Given the description of an element on the screen output the (x, y) to click on. 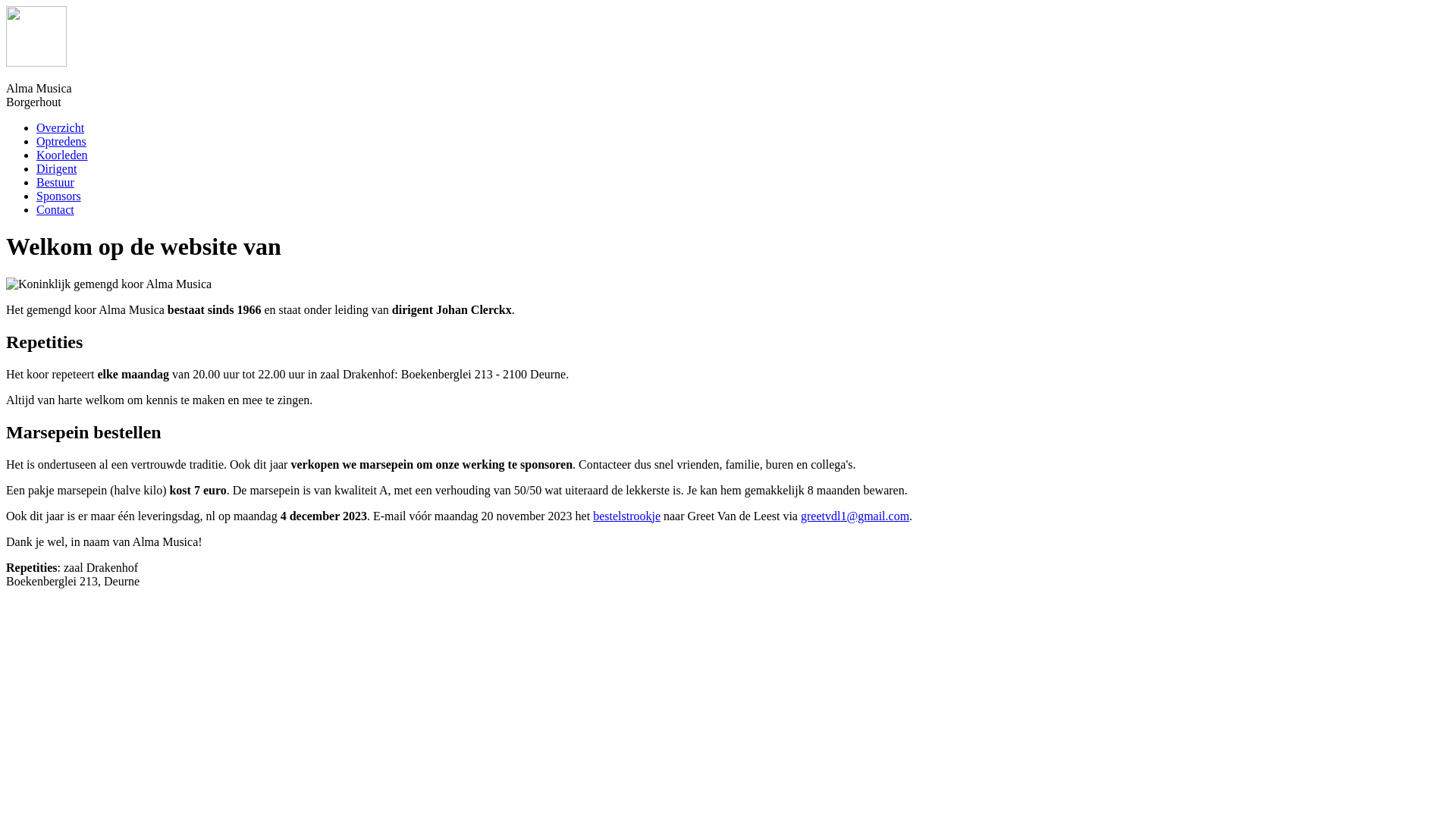
Overzicht Element type: text (60, 127)
Koorleden Element type: text (61, 154)
bestelstrookje Element type: text (626, 515)
Contact Element type: text (55, 209)
Dirigent Element type: text (56, 168)
Sponsors Element type: text (58, 195)
Bestuur Element type: text (55, 181)
Optredens Element type: text (61, 140)
greetvdl1@gmail.com Element type: text (854, 515)
